Given the description of an element on the screen output the (x, y) to click on. 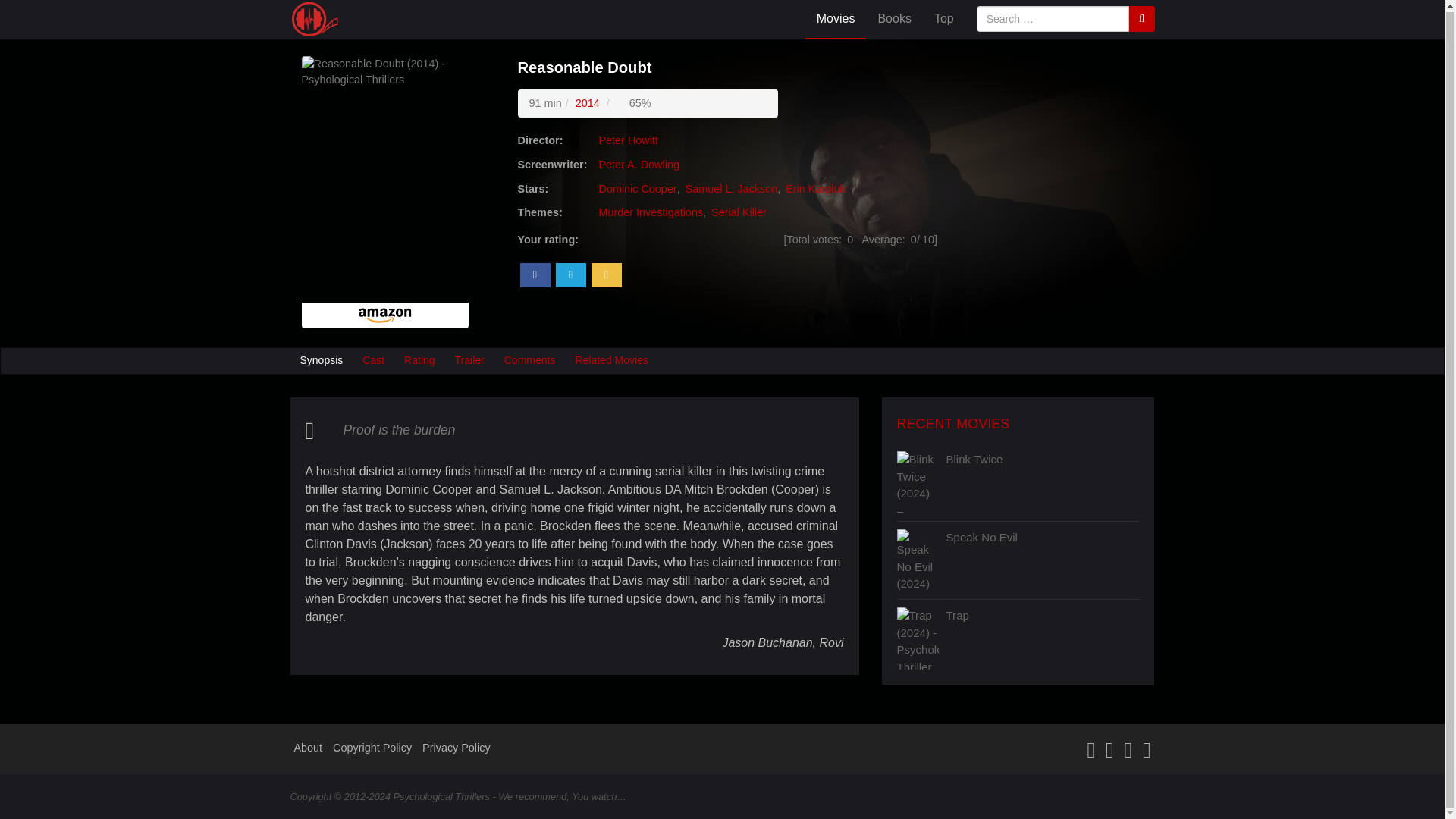
Dominic Cooper (636, 188)
Murder Investigations (650, 212)
Serial Killer (739, 212)
Speak No Evil (1043, 558)
Movies (835, 19)
Books (893, 19)
Top (944, 19)
Blink Twice (1043, 480)
Speak No Evil (1043, 558)
Samuel L. Jackson (729, 188)
